Given the description of an element on the screen output the (x, y) to click on. 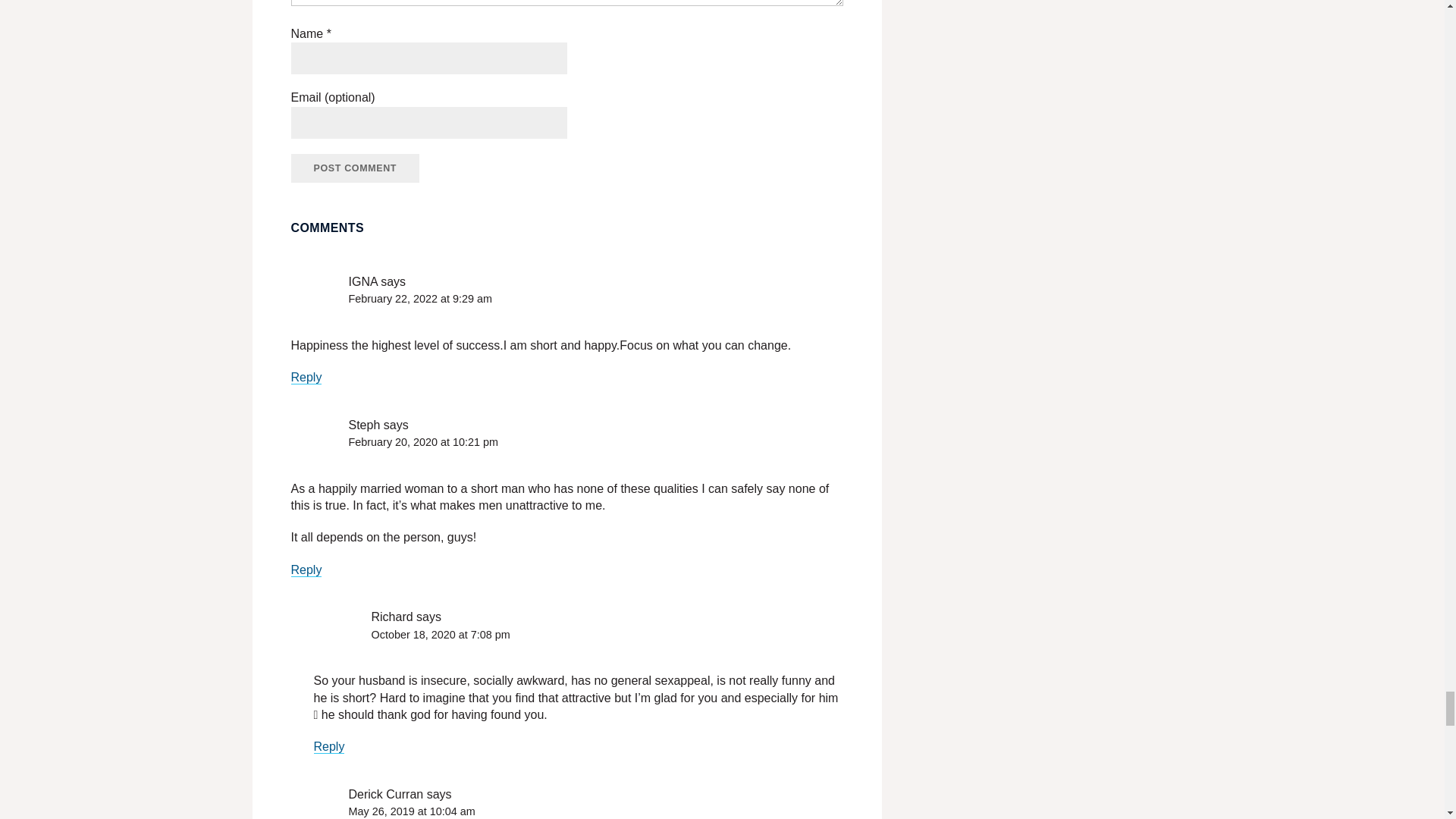
Post Comment (355, 167)
